Given the description of an element on the screen output the (x, y) to click on. 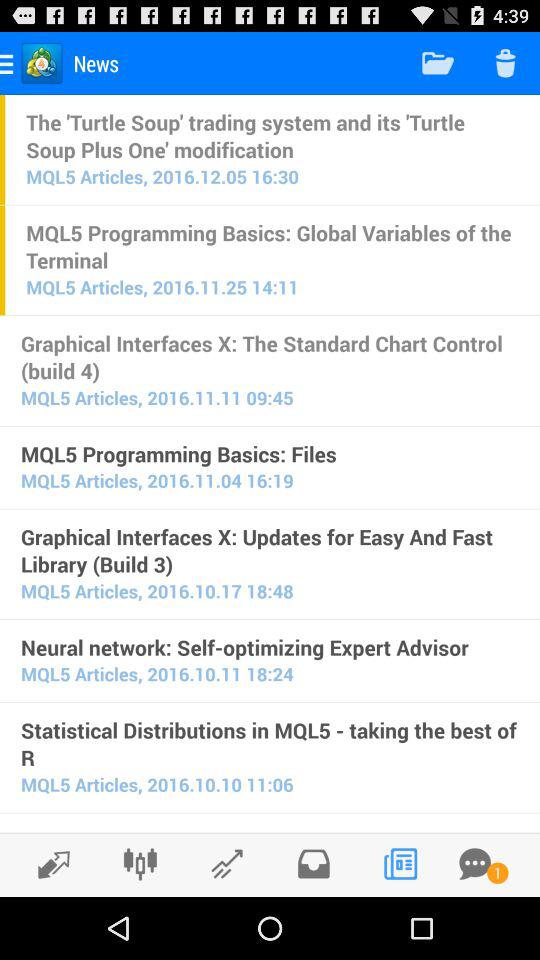
open messages (475, 864)
